Given the description of an element on the screen output the (x, y) to click on. 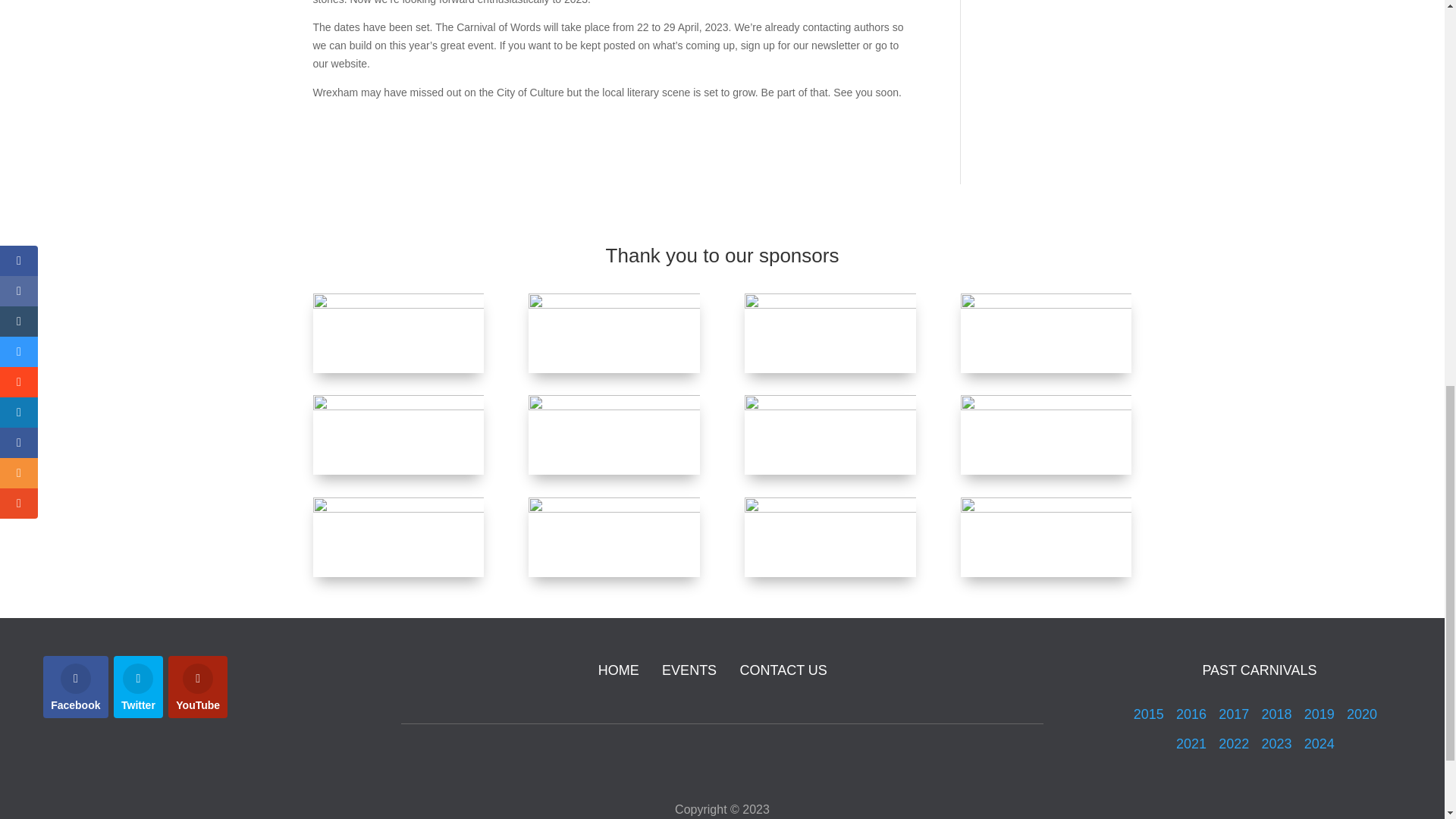
Lot 11 (398, 537)
2017 (1233, 713)
EVENTS (689, 670)
2016 (1192, 713)
Magic Dragon Brewing (829, 537)
calonfm (829, 434)
All Words Matter (398, 333)
moneypenny (1045, 537)
Water Stones - Wrexham (829, 333)
HOME (618, 670)
SIlverwood (398, 434)
P N Burrows - Author (613, 333)
CONTACT US (783, 670)
Rotary - Wrexham (613, 434)
Facebook (75, 687)
